Given the description of an element on the screen output the (x, y) to click on. 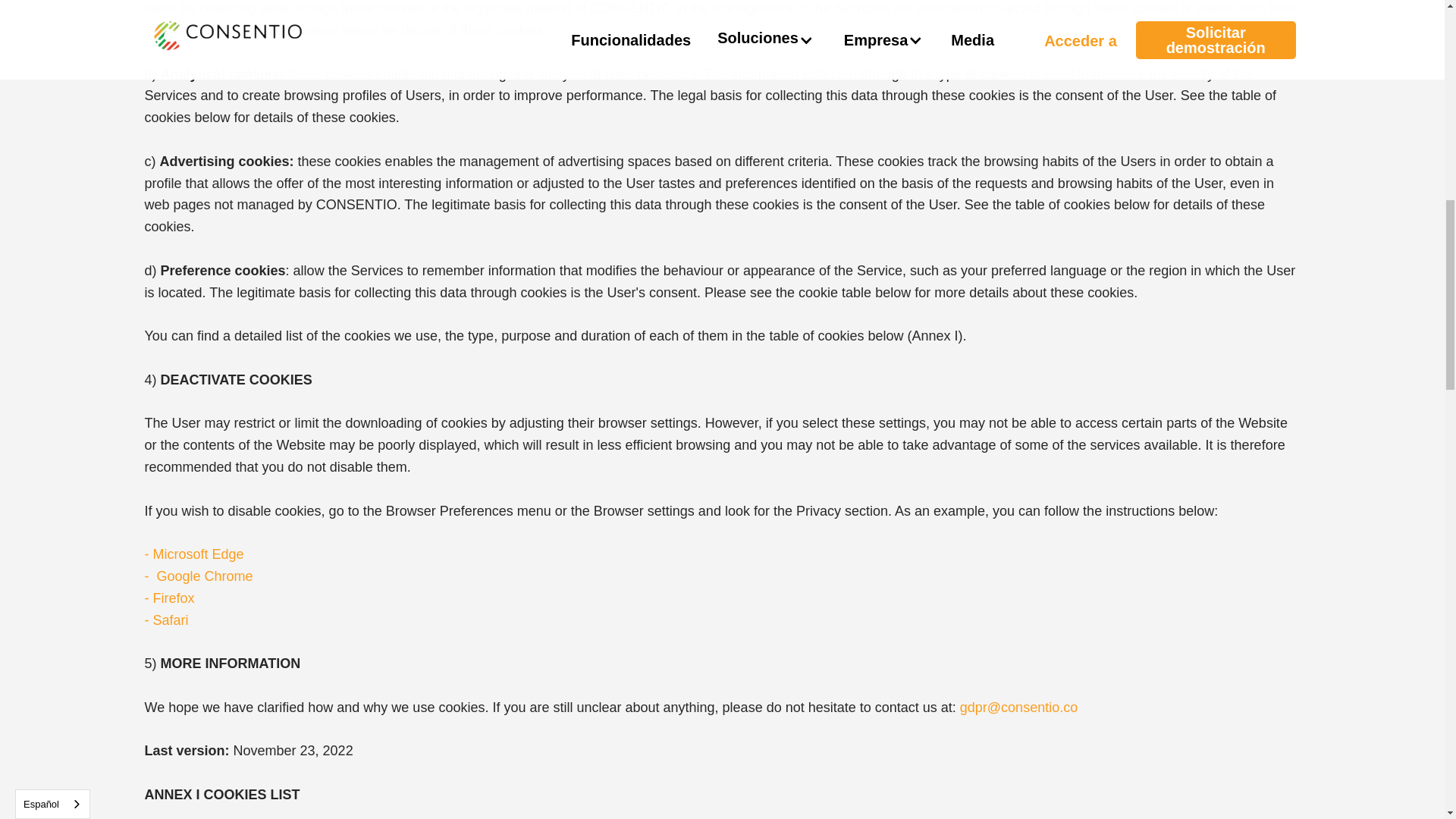
Safari (170, 620)
